Given the description of an element on the screen output the (x, y) to click on. 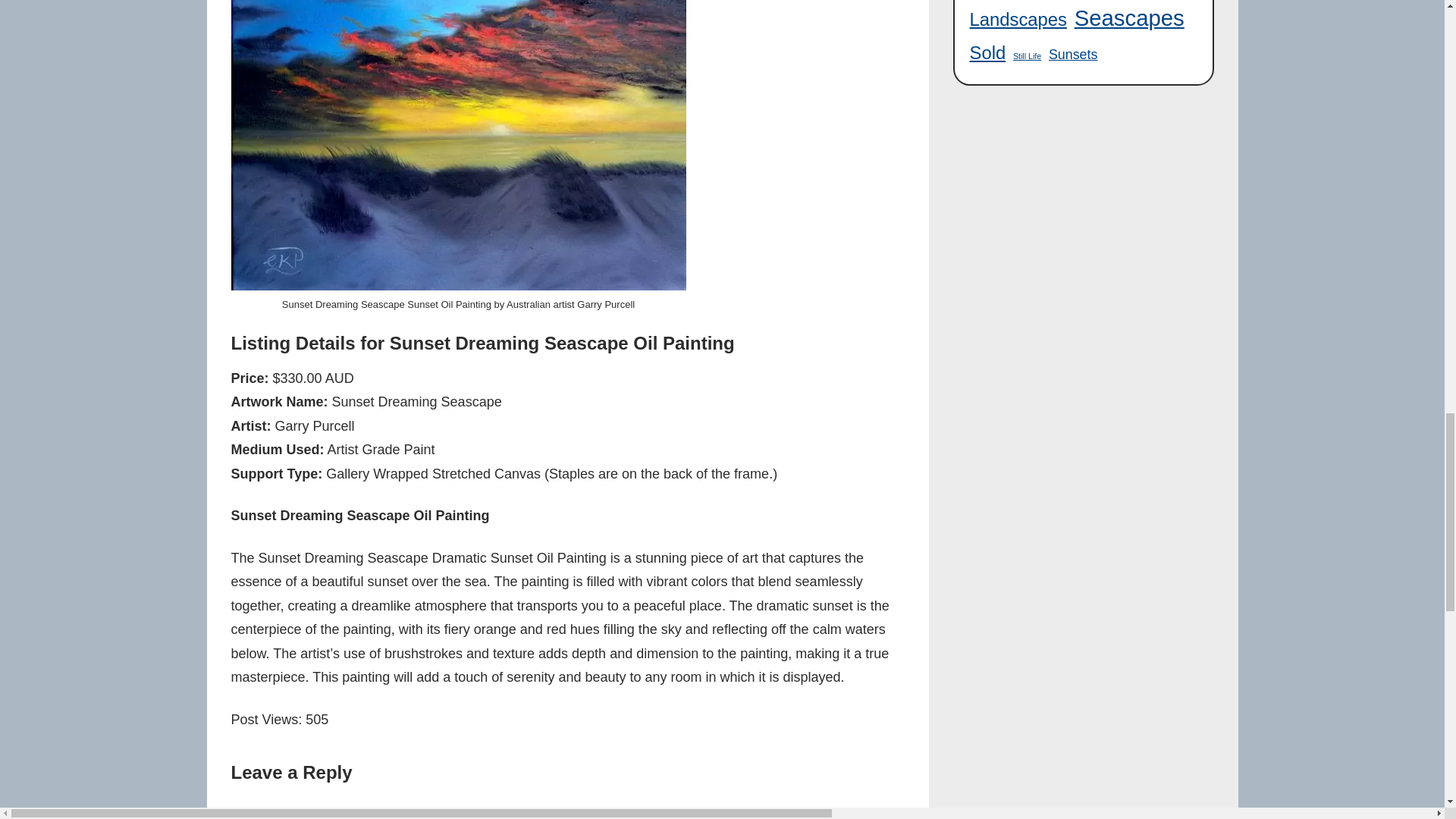
logged in (331, 812)
